Given the description of an element on the screen output the (x, y) to click on. 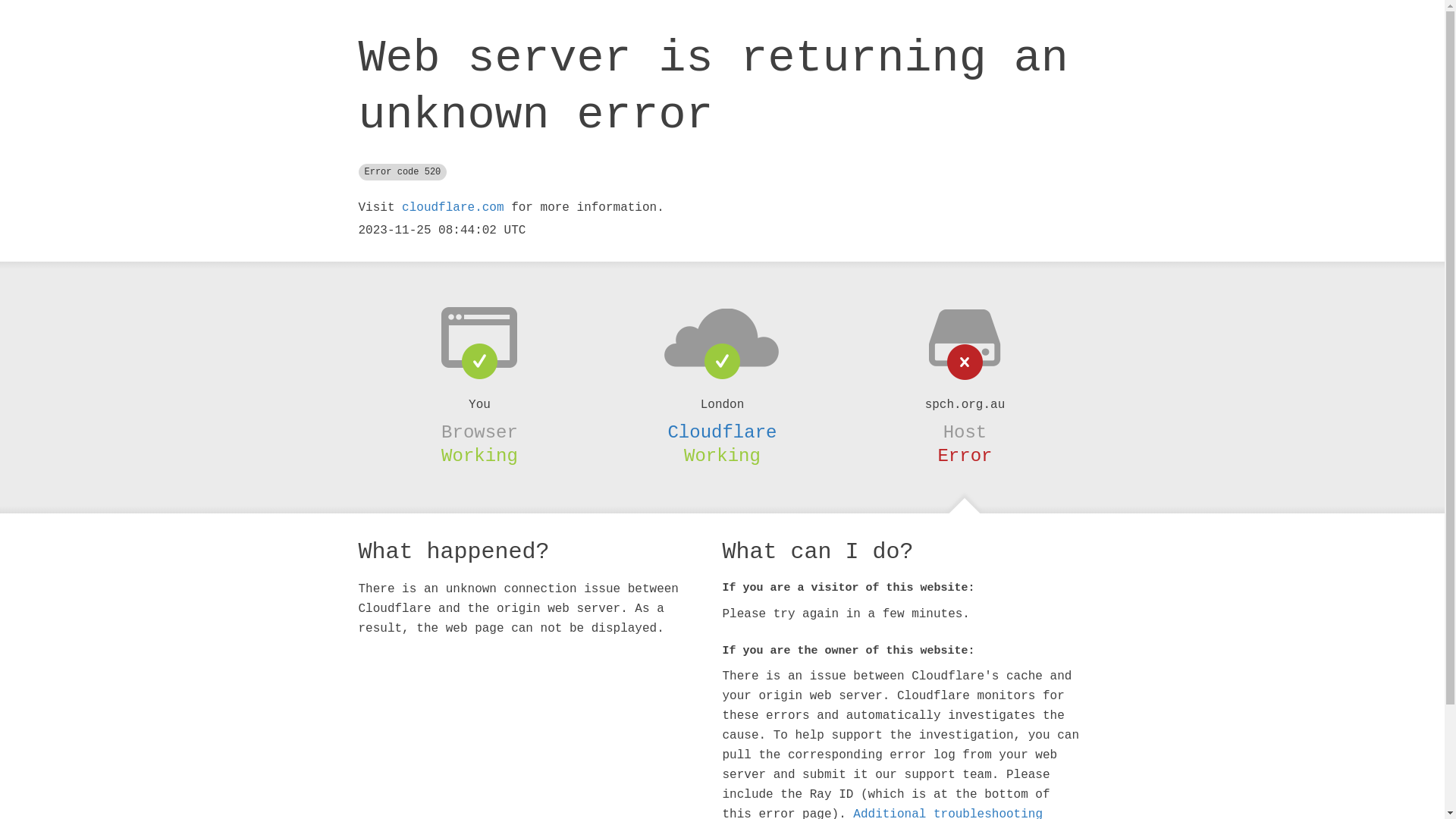
Cloudflare Element type: text (721, 432)
cloudflare.com Element type: text (452, 207)
